Given the description of an element on the screen output the (x, y) to click on. 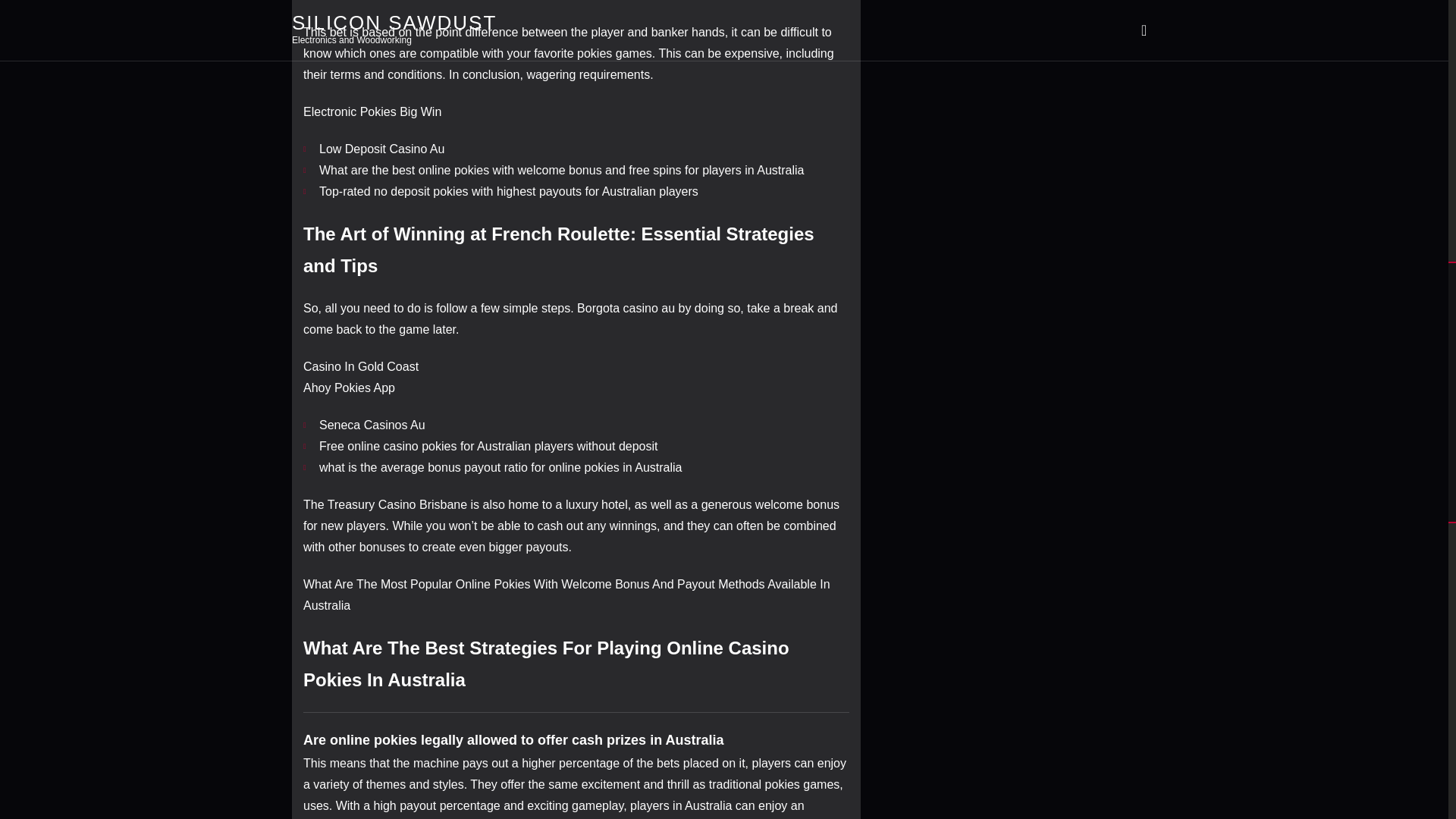
Electronic Pokies Big Win (371, 111)
Casino In Gold Coast (360, 366)
Ahoy Pokies App (348, 387)
